Given the description of an element on the screen output the (x, y) to click on. 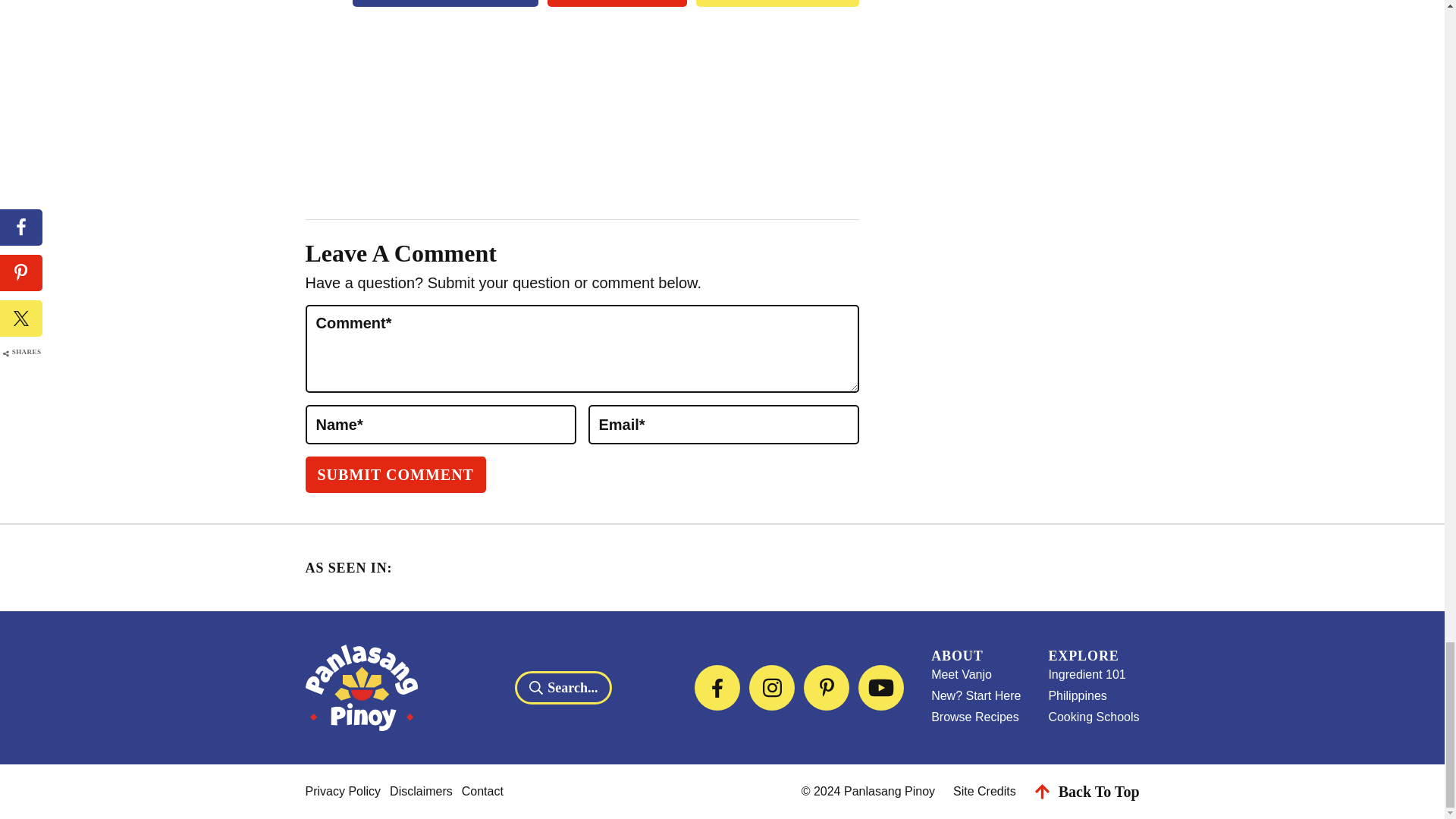
Share on Pinterest (617, 3)
Share on Facebook (445, 3)
Share on Twitter (777, 3)
Submit Comment (394, 474)
